Given the description of an element on the screen output the (x, y) to click on. 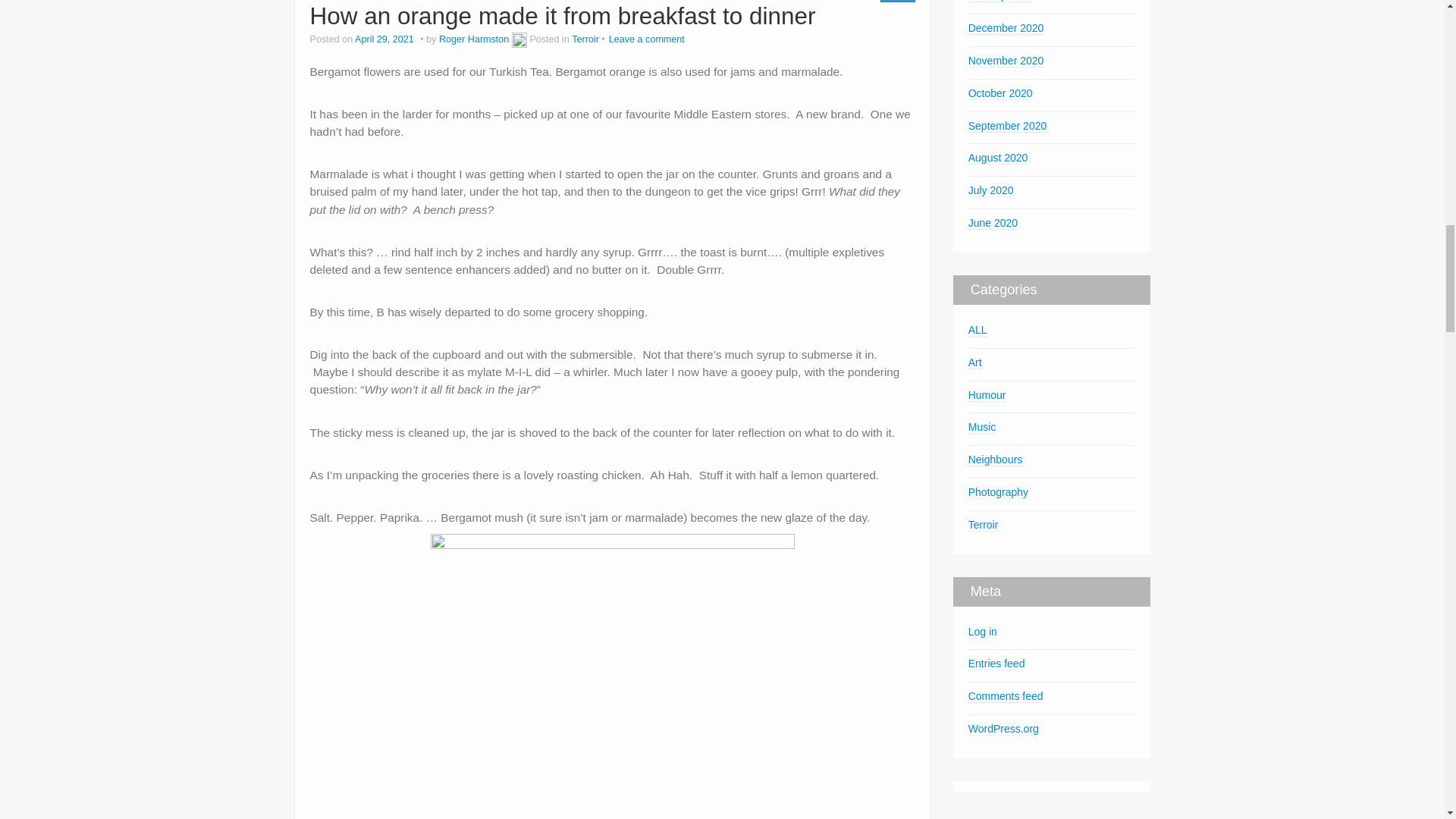
2:02 pm (385, 39)
View all posts by Roger Harmston (473, 39)
Roger Harmston (473, 39)
Terroir (585, 39)
View all posts by Roger Harmston (519, 39)
Permalink to How an orange made it from breakfast to dinner (561, 15)
Leave a comment (646, 39)
How an orange made it from breakfast to dinner (561, 15)
April 29, 2021 (385, 39)
